Given the description of an element on the screen output the (x, y) to click on. 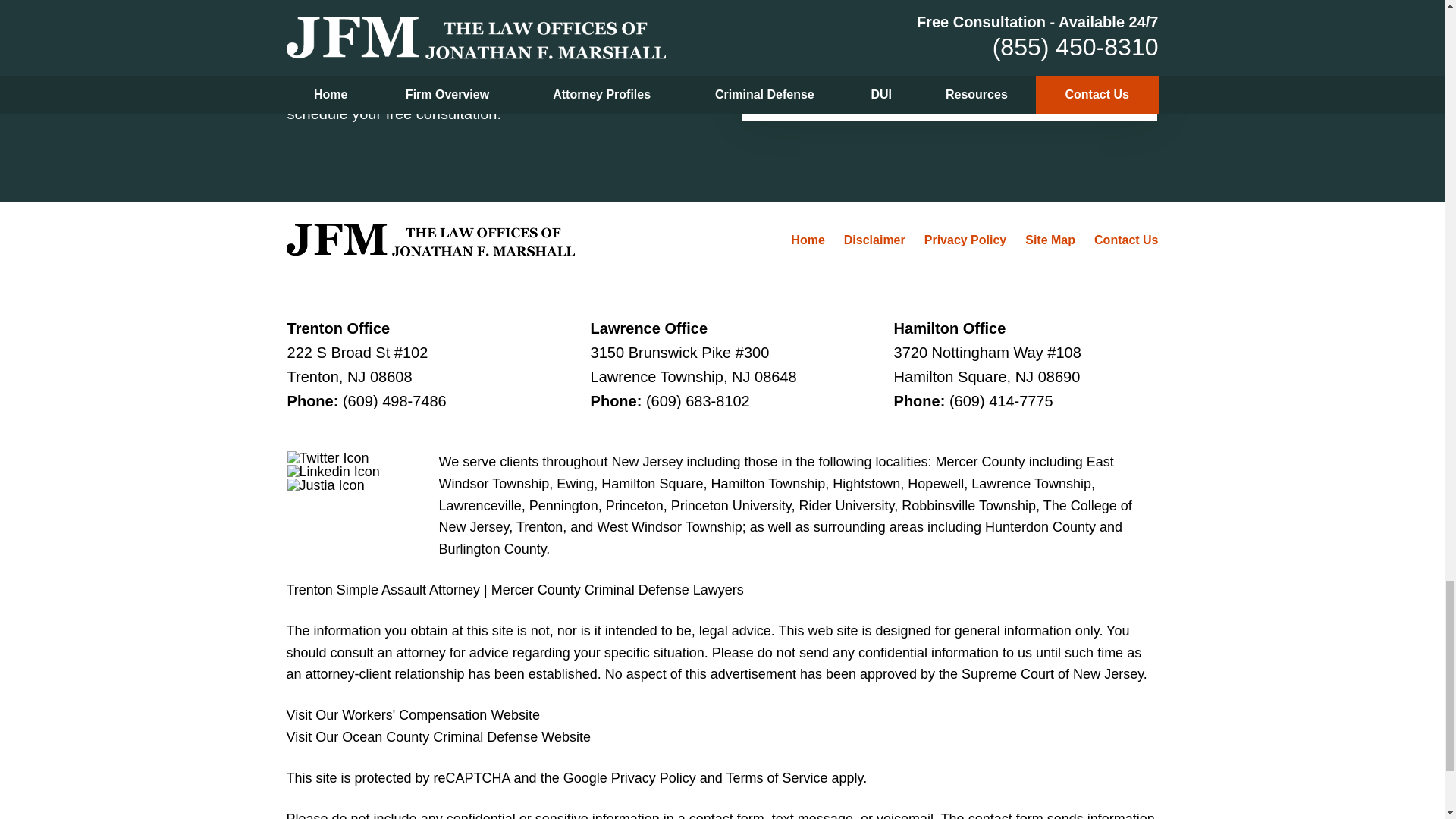
Justia (325, 485)
Twitter (327, 458)
Linkedin (333, 471)
